Given the description of an element on the screen output the (x, y) to click on. 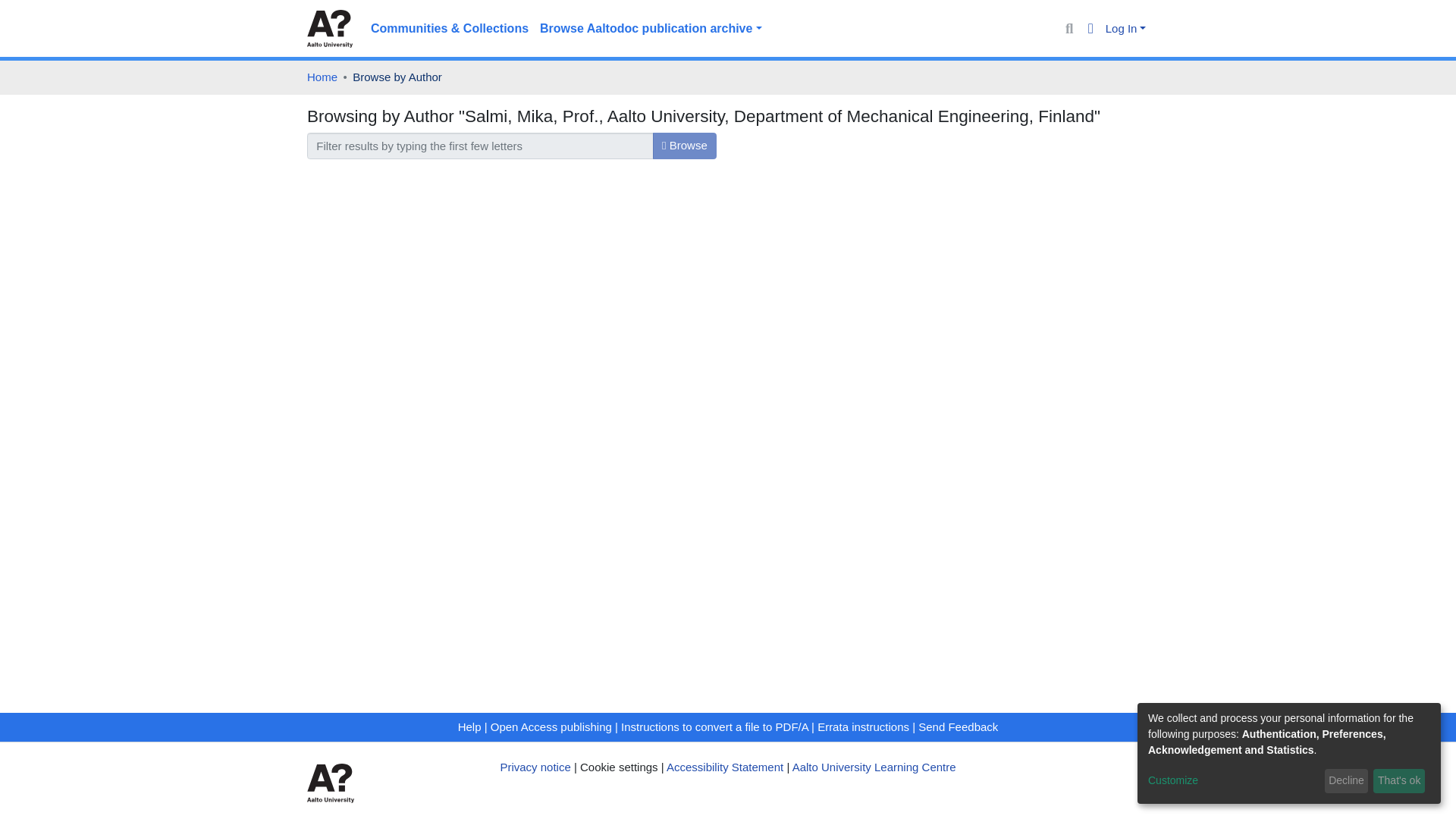
Privacy notice (534, 766)
Cookie settings (618, 766)
Home (322, 77)
Help (469, 726)
Customize (1233, 780)
Open Access publishing (550, 726)
Send Feedback (957, 726)
Decline (1346, 781)
Log In (1125, 28)
Accessibility Statement (724, 766)
Search (1068, 28)
That's ok (1399, 781)
Errata instructions (862, 726)
Language switch (1090, 28)
Aalto University Learning Centre (874, 766)
